Given the description of an element on the screen output the (x, y) to click on. 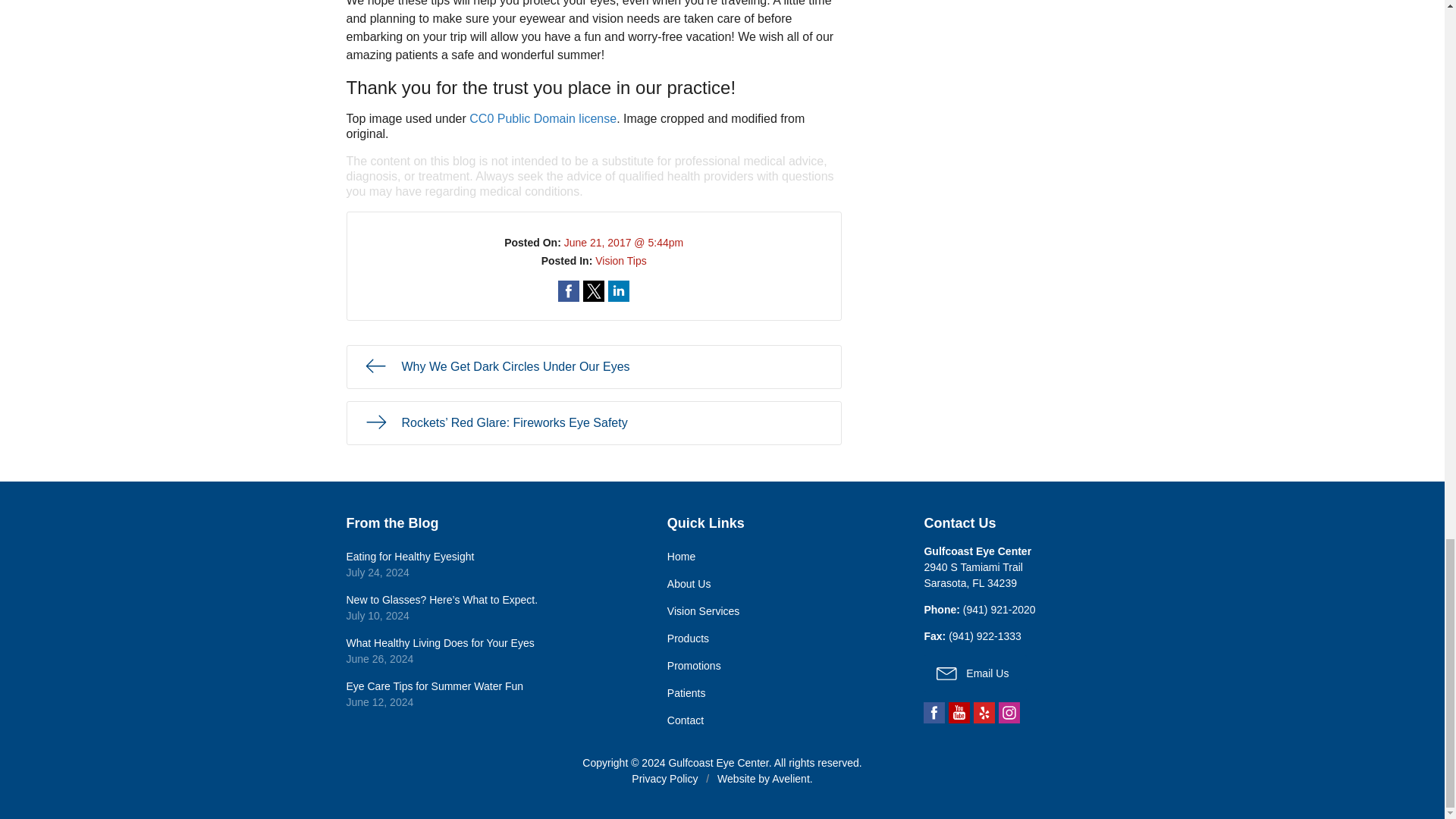
Share on Facebook (568, 291)
Share on Twitter (593, 291)
Go to our Facebook Page (933, 712)
Contact practice (998, 609)
Share on LinkedIn (618, 291)
Open this address in Google Maps (972, 574)
